Given the description of an element on the screen output the (x, y) to click on. 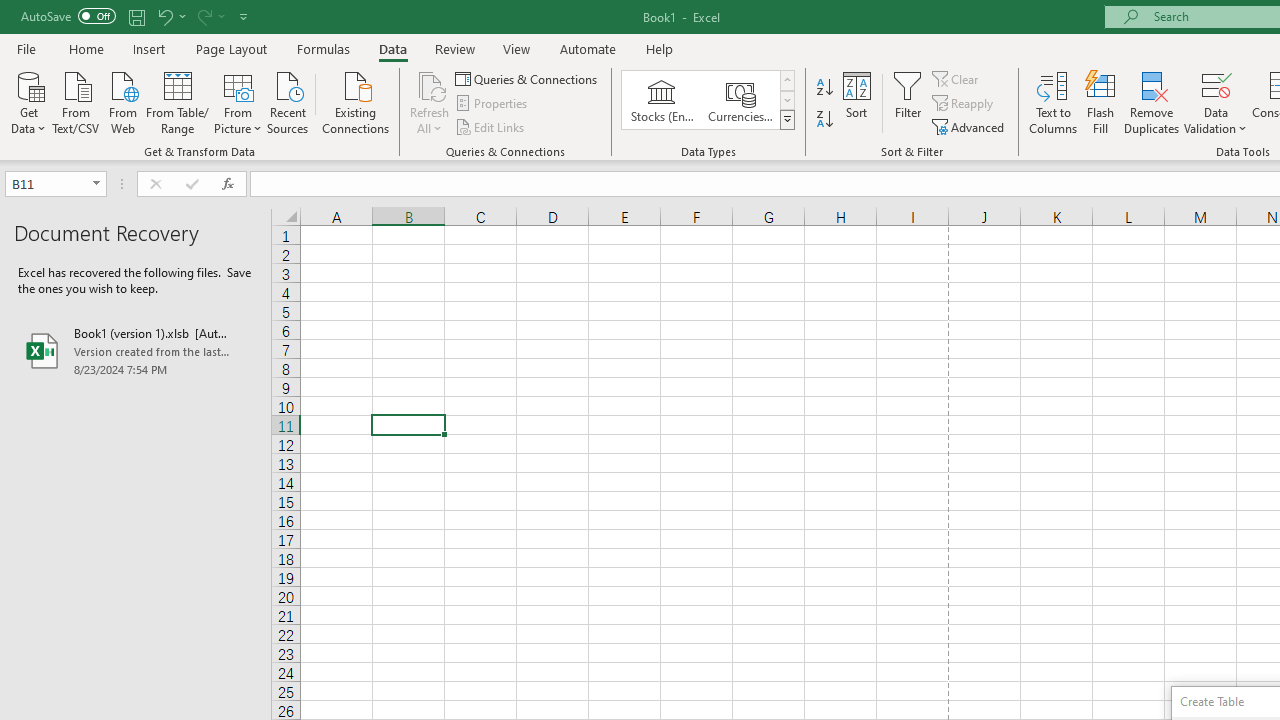
Recent Sources (287, 101)
From Table/Range (177, 101)
From Web (122, 101)
From Picture (238, 101)
Stocks (English) (662, 100)
Row Down (786, 100)
